Given the description of an element on the screen output the (x, y) to click on. 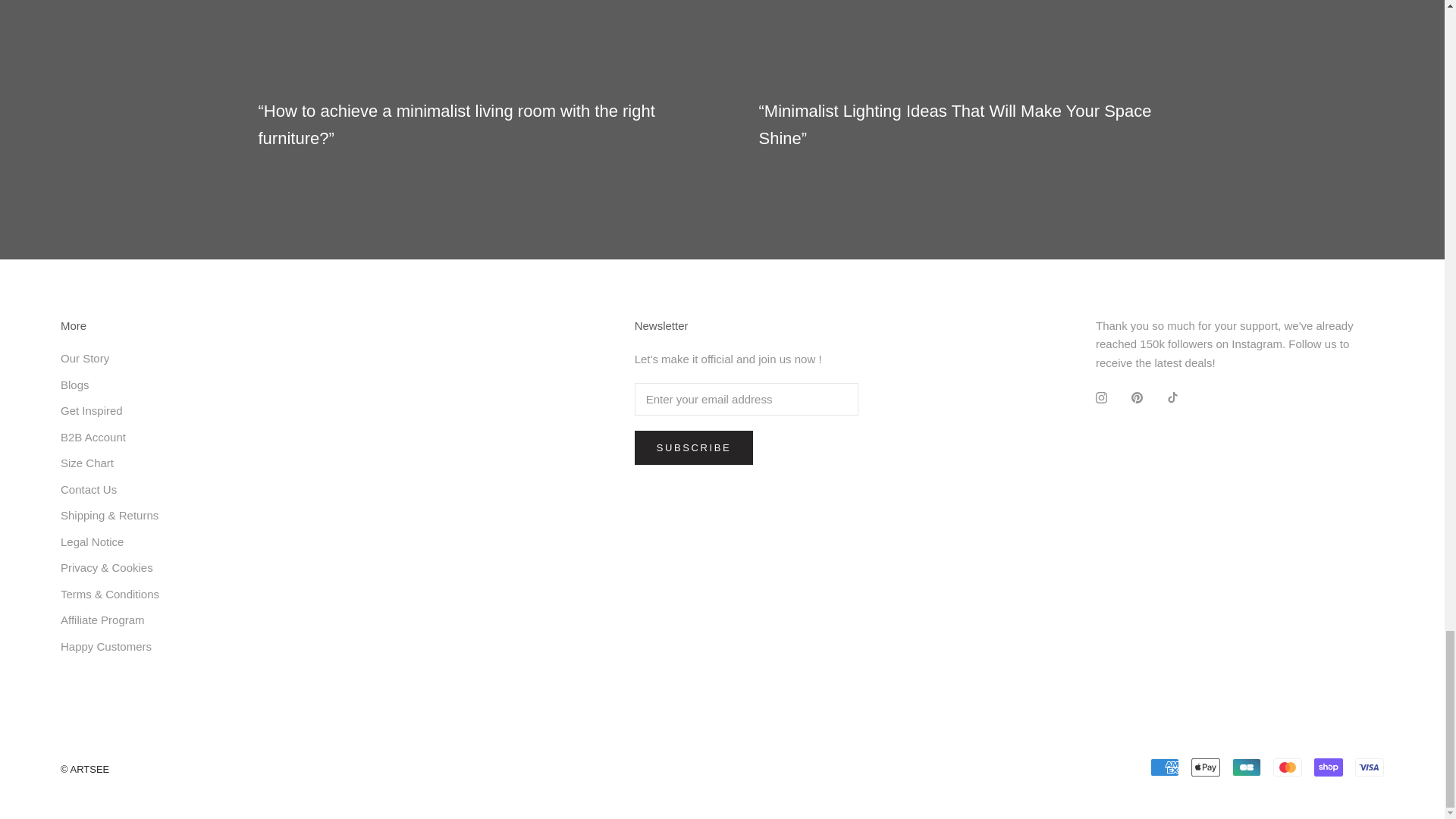
Cartes Bancaires (1245, 767)
Shop Pay (1328, 767)
Apple Pay (1205, 767)
Visa (1369, 767)
Mastercard (1286, 767)
American Express (1164, 767)
